Given the description of an element on the screen output the (x, y) to click on. 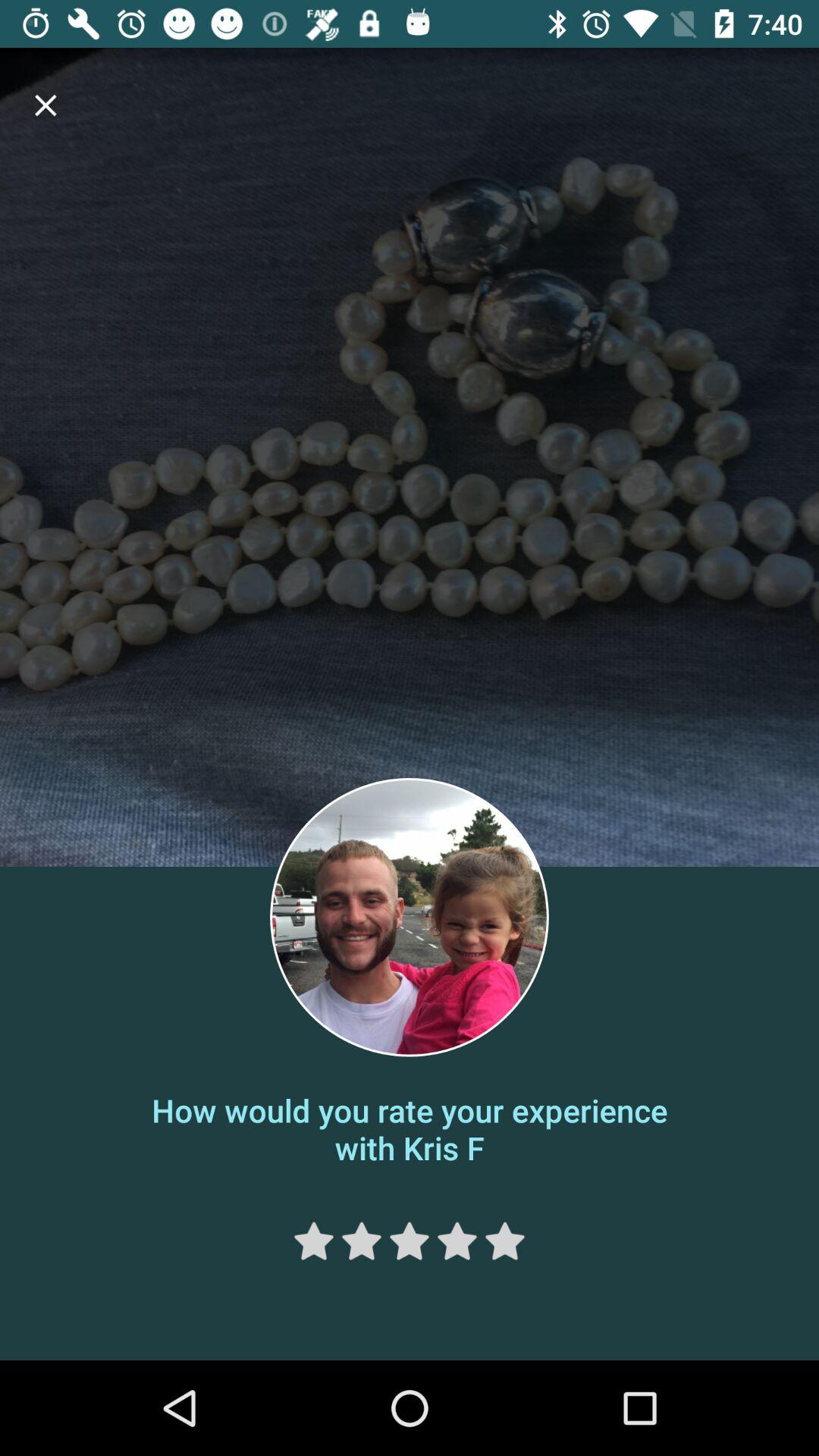
feedback from user to help identify how well the product has worked for others (361, 1240)
